Given the description of an element on the screen output the (x, y) to click on. 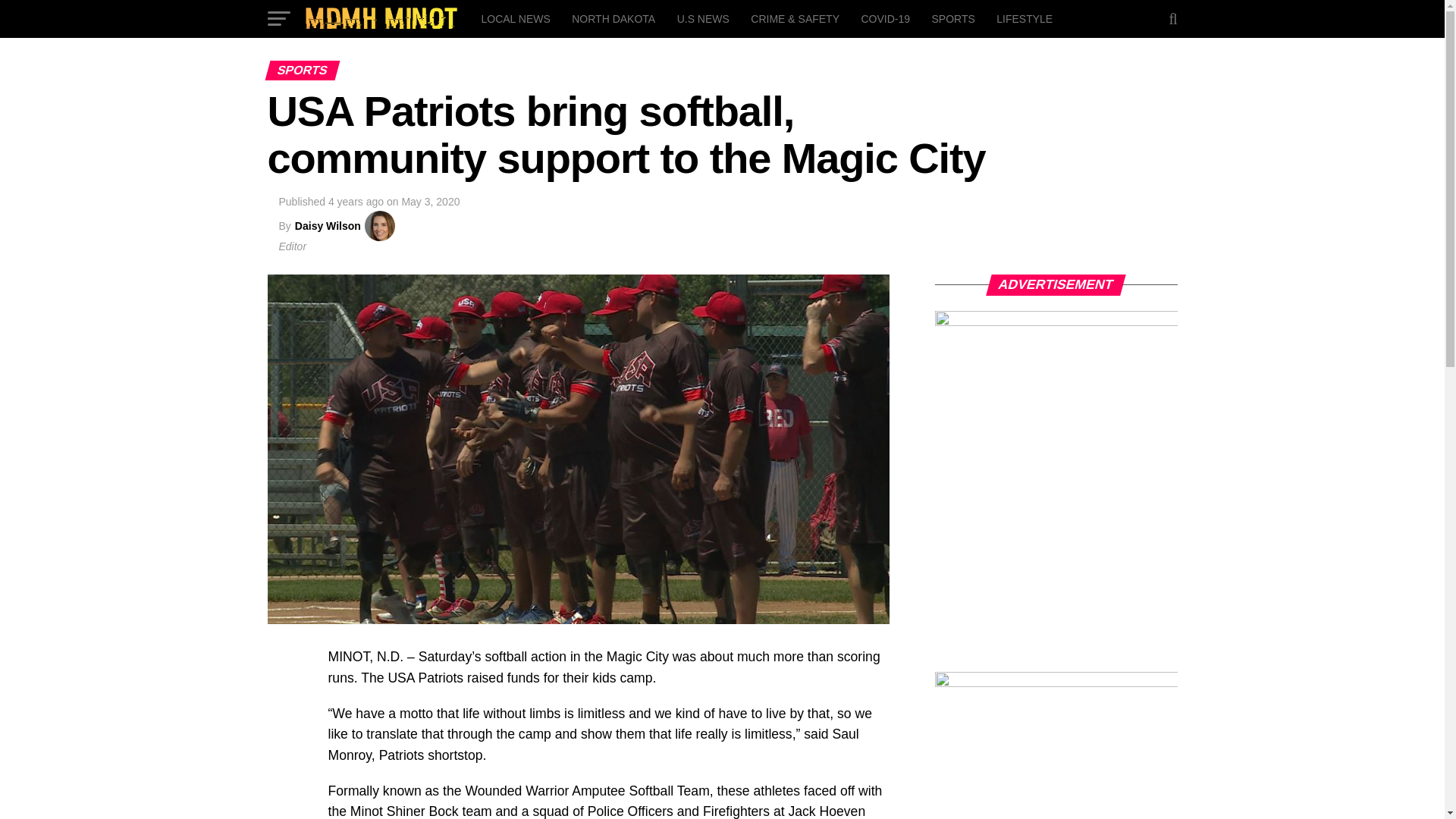
Posts by Daisy Wilson (328, 225)
COVID-19 (884, 18)
NORTH DAKOTA (612, 18)
LOCAL NEWS (515, 18)
U.S NEWS (703, 18)
